Given the description of an element on the screen output the (x, y) to click on. 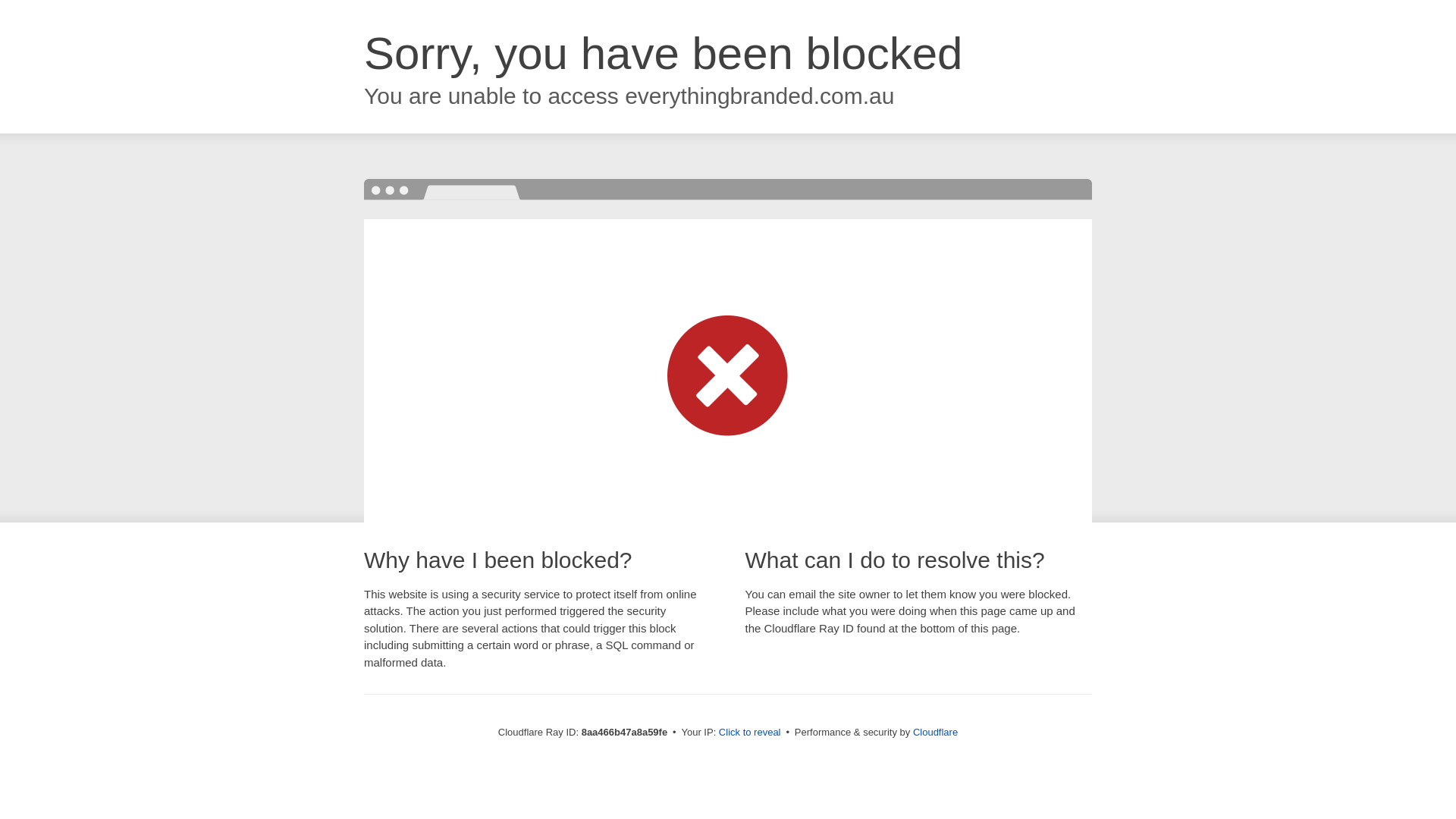
Click to reveal (749, 732)
Cloudflare (935, 731)
